Given the description of an element on the screen output the (x, y) to click on. 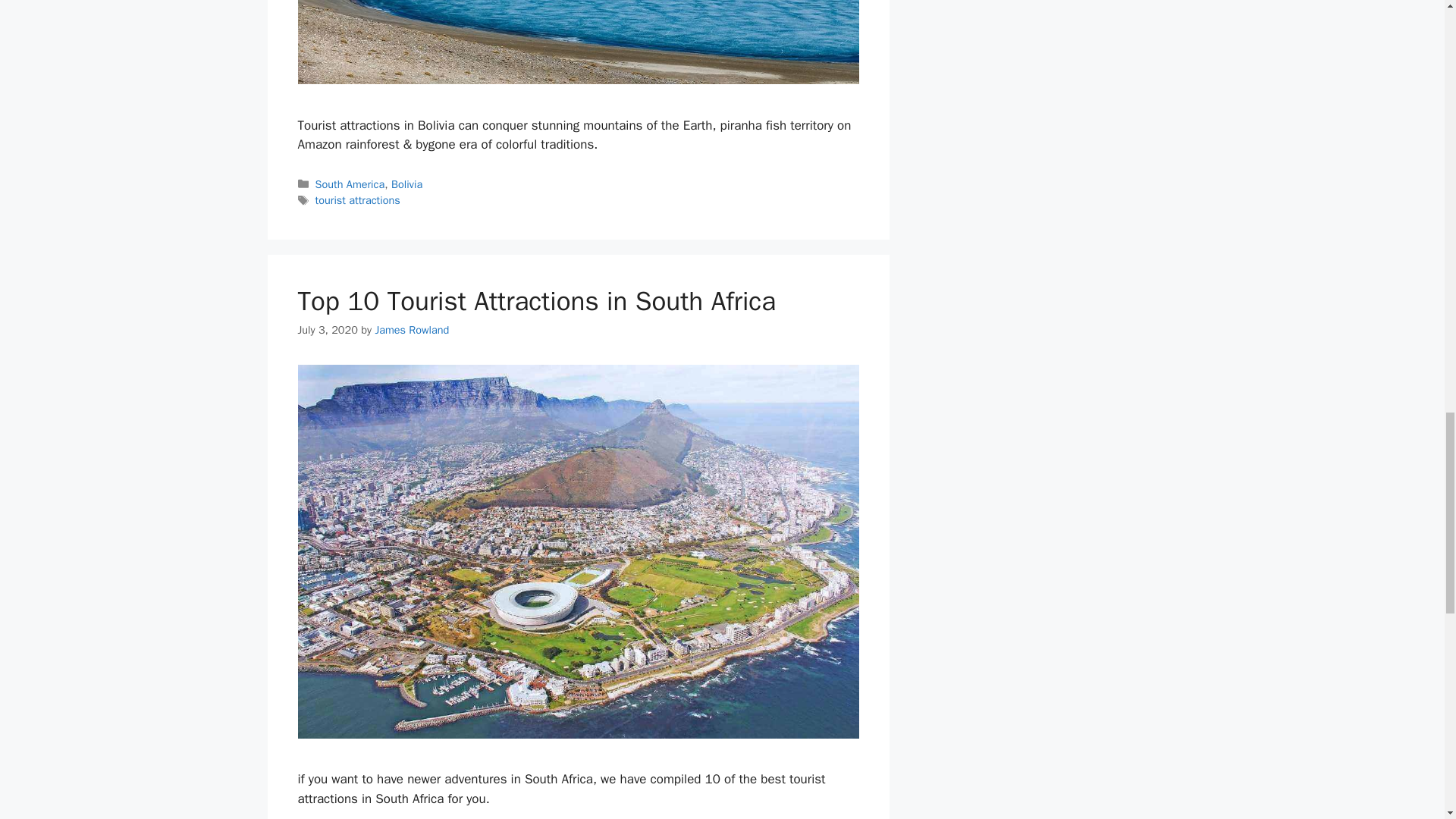
View all posts by James Rowland (411, 329)
